Given the description of an element on the screen output the (x, y) to click on. 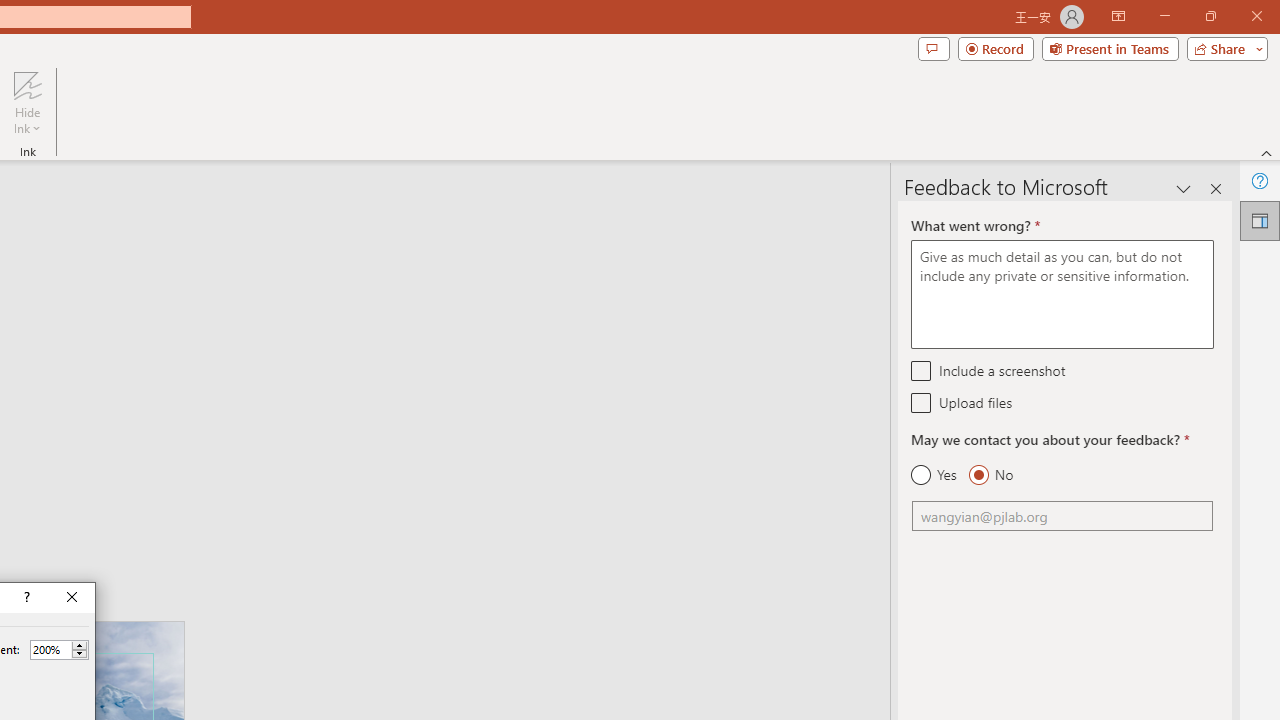
Yes (934, 475)
Feedback to Microsoft (1260, 220)
What went wrong? * (1062, 294)
Upload files (921, 402)
Percent (59, 650)
No (990, 475)
